Given the description of an element on the screen output the (x, y) to click on. 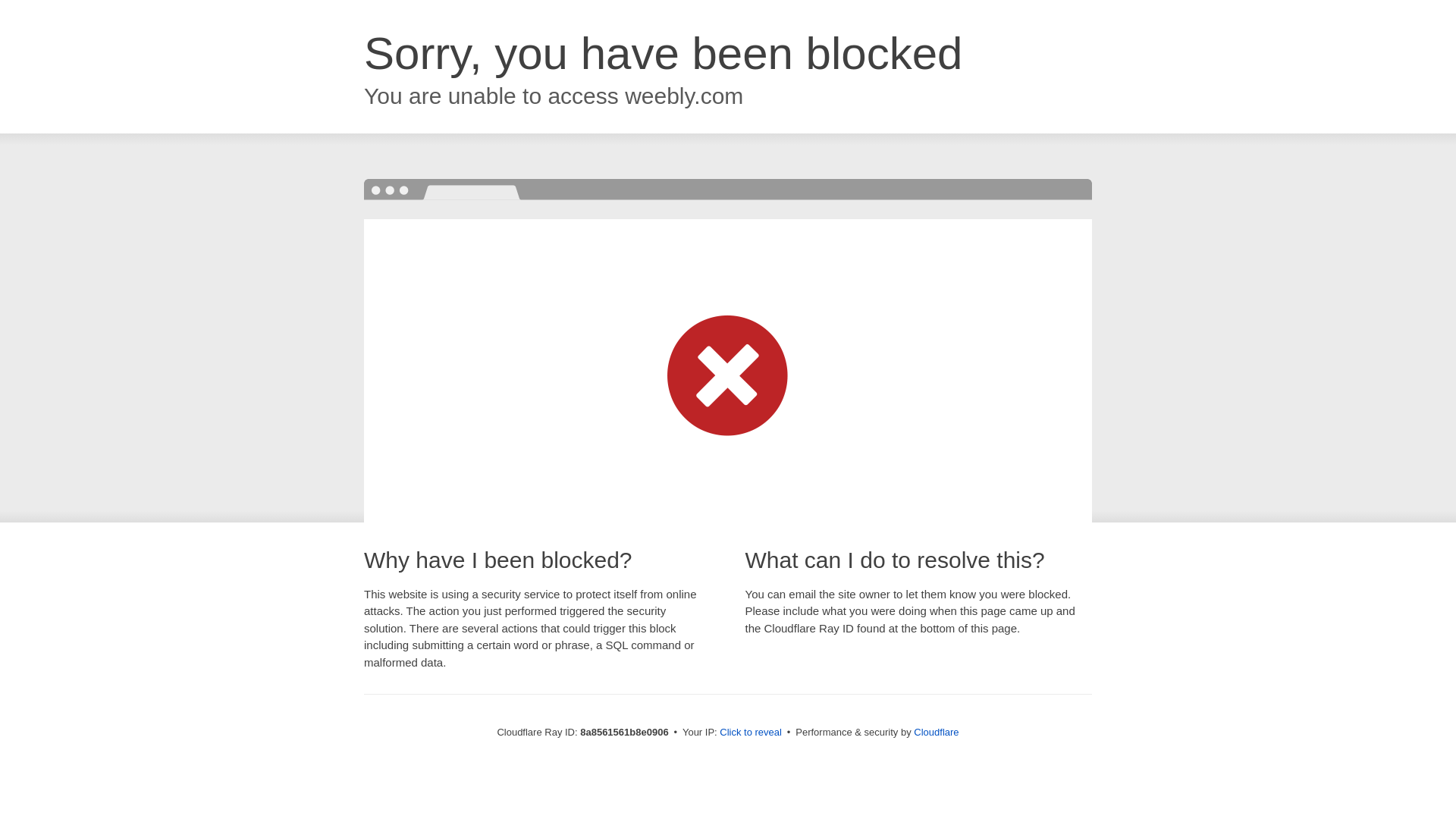
Click to reveal (750, 732)
Cloudflare (936, 731)
